Given the description of an element on the screen output the (x, y) to click on. 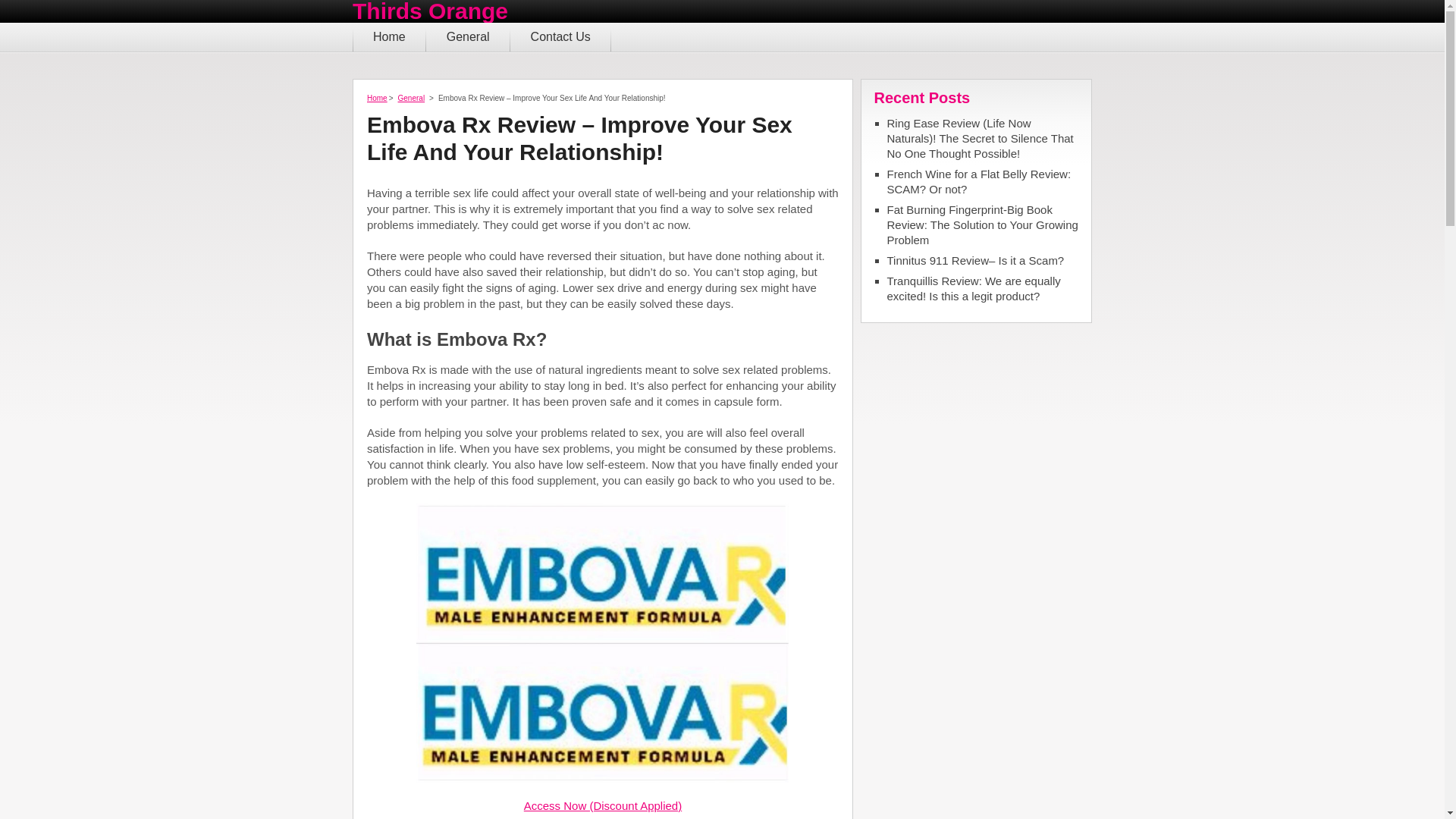
Thirds Orange (430, 11)
Contact Us (561, 36)
French Wine for a Flat Belly Review: SCAM? Or not? (982, 182)
Home (389, 36)
General (411, 98)
General (468, 36)
Home (376, 98)
